Given the description of an element on the screen output the (x, y) to click on. 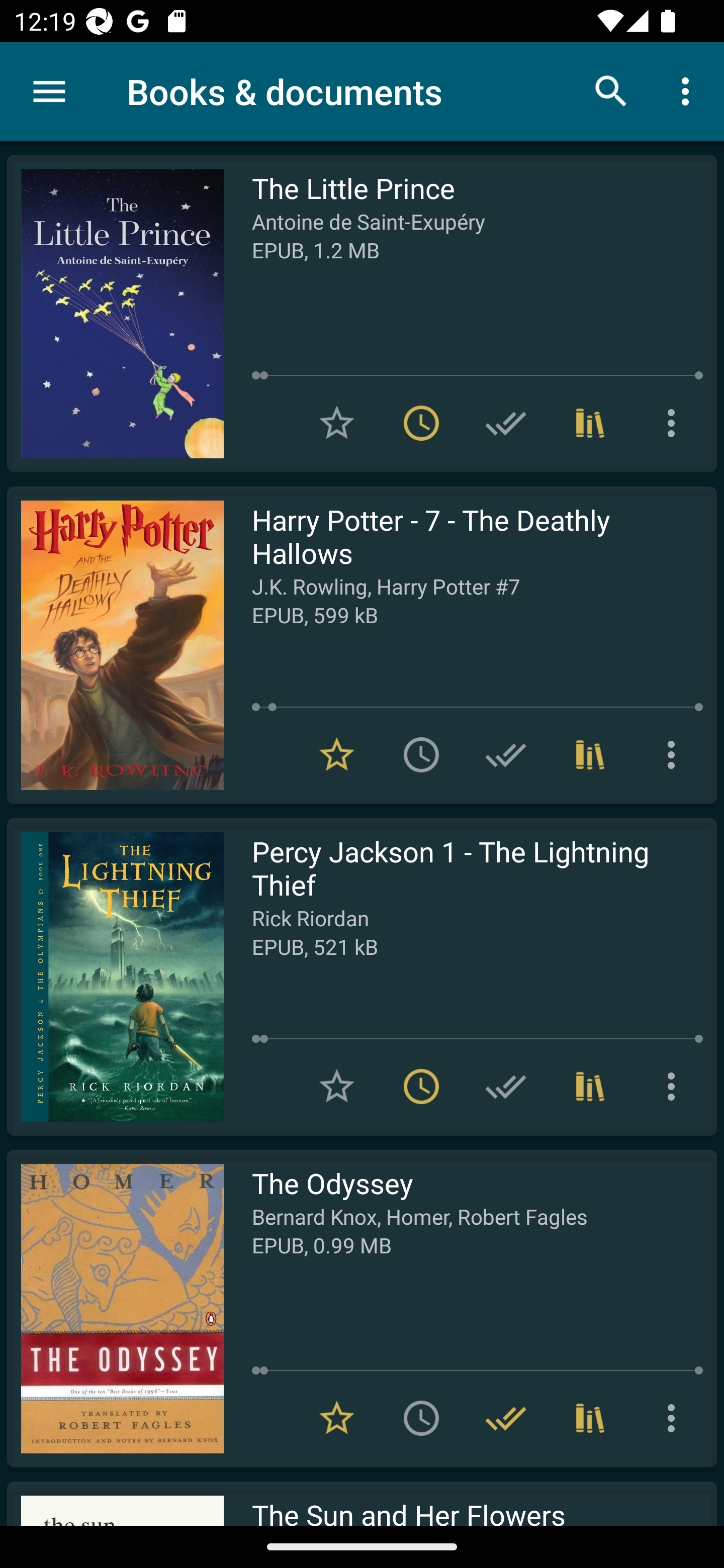
Menu (49, 91)
Search books & documents (611, 90)
More options (688, 90)
Read The Little Prince (115, 313)
Add to Favorites (336, 423)
Remove from To read (421, 423)
Add to Have read (505, 423)
Collections (1) (590, 423)
More options (674, 423)
Read Harry Potter - 7 - The Deathly Hallows (115, 645)
Remove from Favorites (336, 753)
Add to To read (421, 753)
Add to Have read (505, 753)
Collections (1) (590, 753)
More options (674, 753)
Read Percy Jackson 1 - The Lightning Thief (115, 976)
Add to Favorites (336, 1086)
Remove from To read (421, 1086)
Add to Have read (505, 1086)
Collections (1) (590, 1086)
More options (674, 1086)
Read The Odyssey (115, 1308)
Remove from Favorites (336, 1417)
Add to To read (421, 1417)
Remove from Have read (505, 1417)
Collections (2) (590, 1417)
More options (674, 1417)
